Given the description of an element on the screen output the (x, y) to click on. 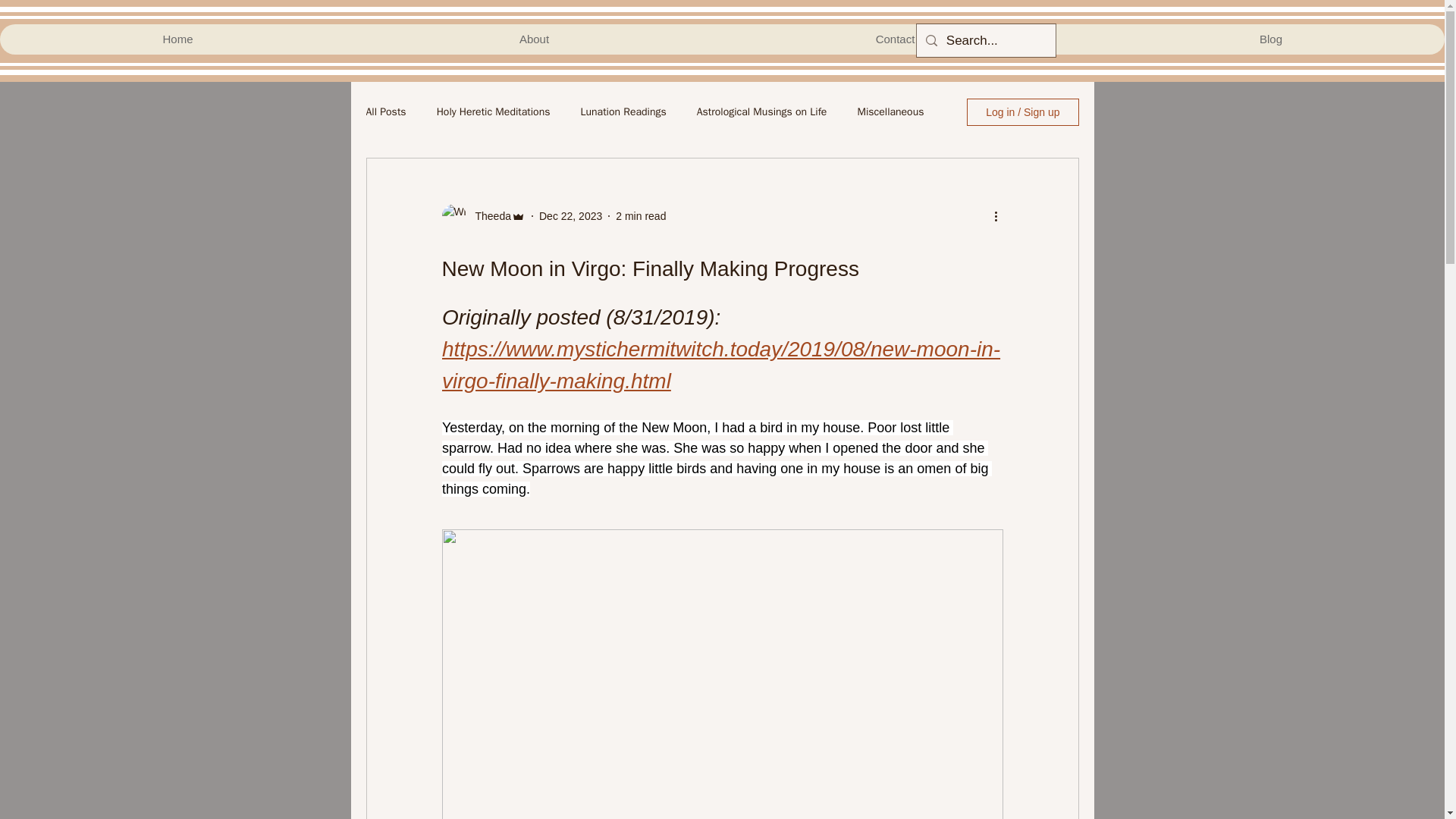
Dec 22, 2023 (570, 215)
Astrological Musings on Life (762, 111)
2 min read (640, 215)
About (533, 39)
Home (177, 39)
Holy Heretic Meditations (493, 111)
Miscellaneous (890, 111)
Contact Me (903, 39)
All Posts (385, 111)
Theeda  (488, 215)
Lunation Readings (622, 111)
